Given the description of an element on the screen output the (x, y) to click on. 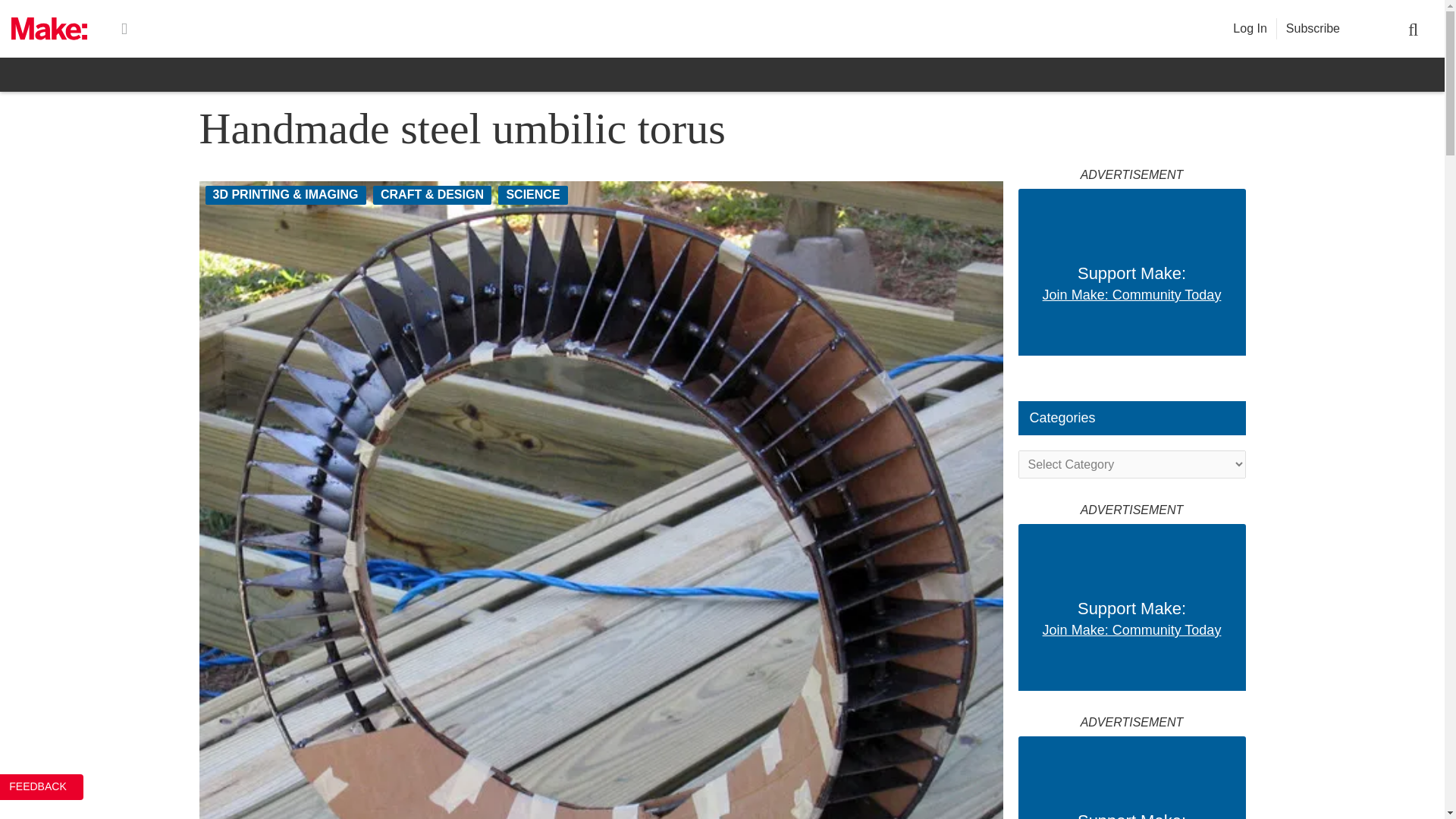
Log In (1249, 28)
